Given the description of an element on the screen output the (x, y) to click on. 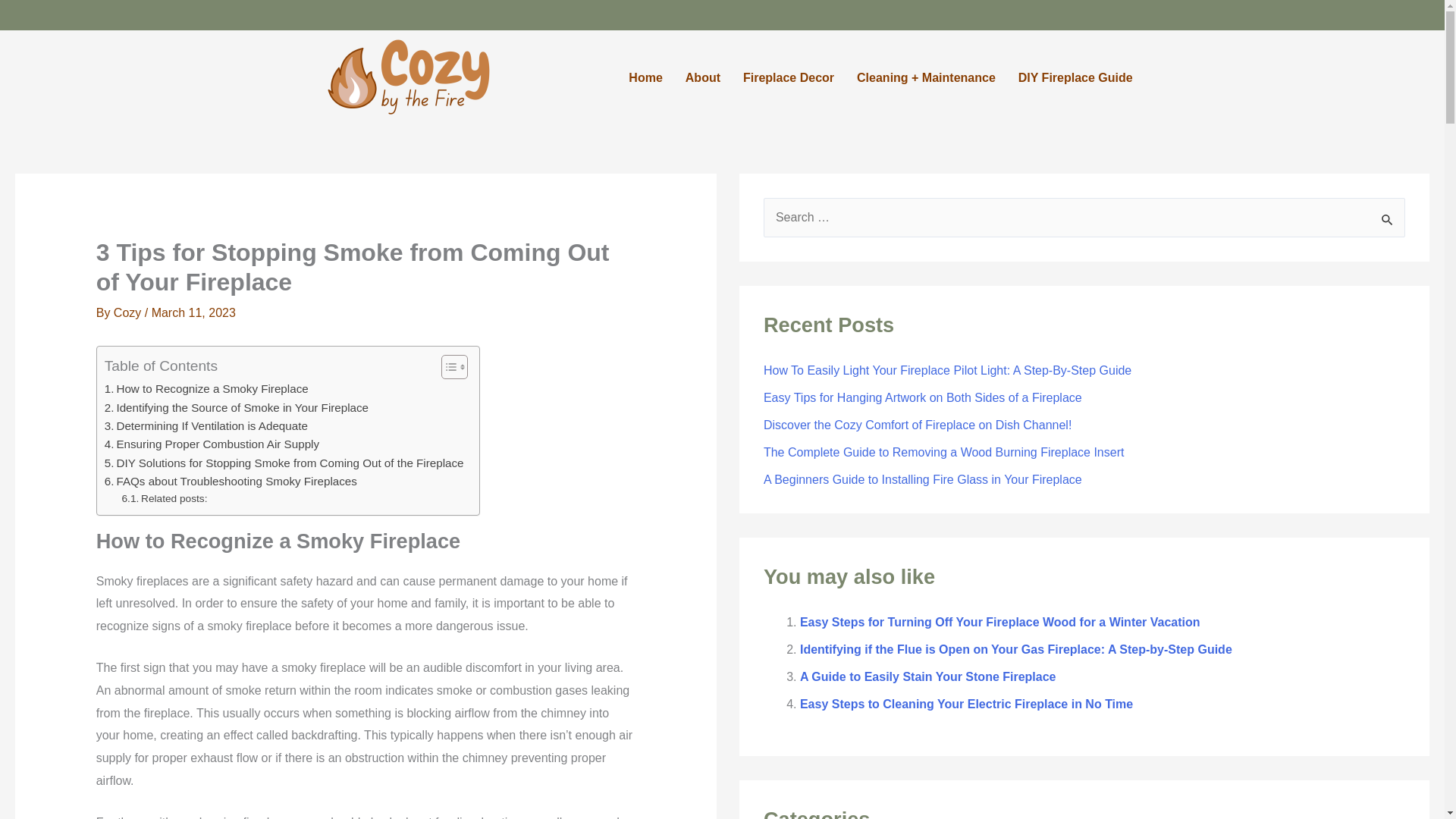
Related posts: (165, 498)
How to Recognize a Smoky Fireplace (206, 389)
A Beginners Guide to Installing Fire Glass in Your Fireplace (921, 479)
Related posts: (165, 498)
How to Recognize a Smoky Fireplace (206, 389)
Discover the Cozy Comfort of Fireplace on Dish Channel! (916, 424)
